Given the description of an element on the screen output the (x, y) to click on. 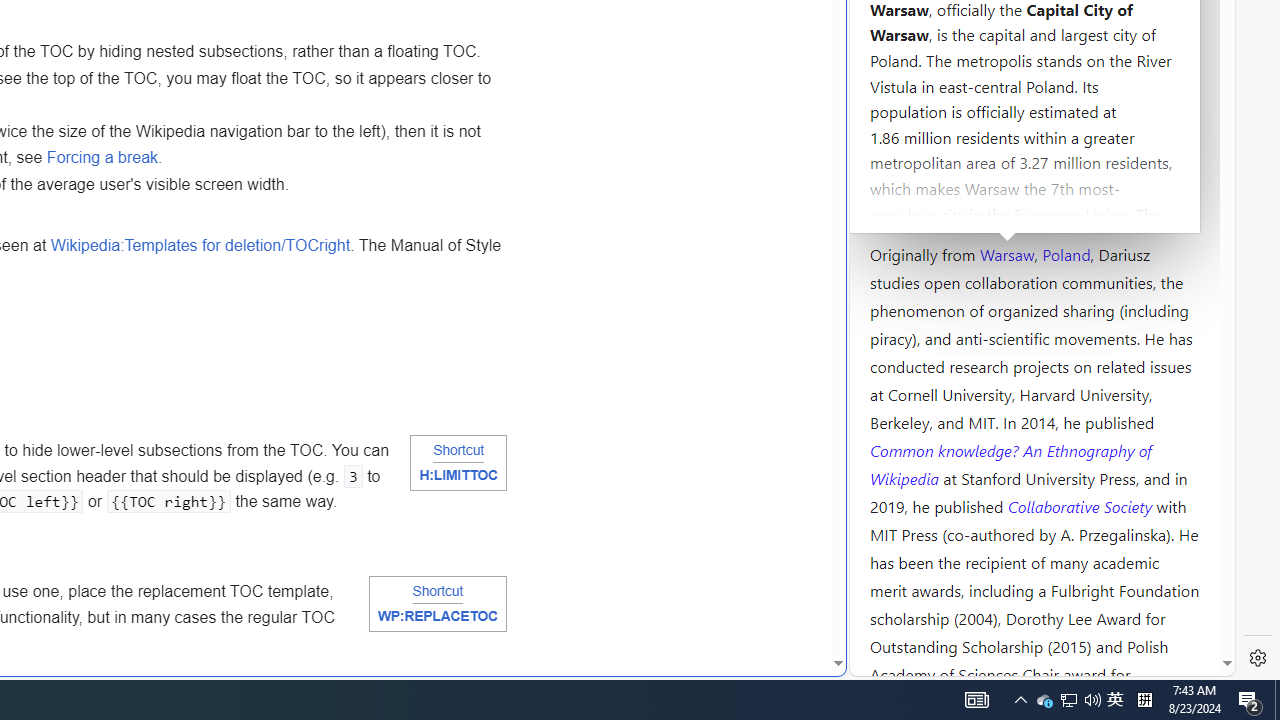
Shortcut (437, 591)
Wikipedia:Templates for deletion/TOCright (199, 245)
Collaborative Society  (1082, 505)
Common knowledge? An Ethnography of Wikipedia (1010, 463)
H:LIMITTOC (457, 475)
H:LIMITTOC (457, 476)
WP:REPLACETOC (437, 616)
Kozminski University (1034, 136)
